Given the description of an element on the screen output the (x, y) to click on. 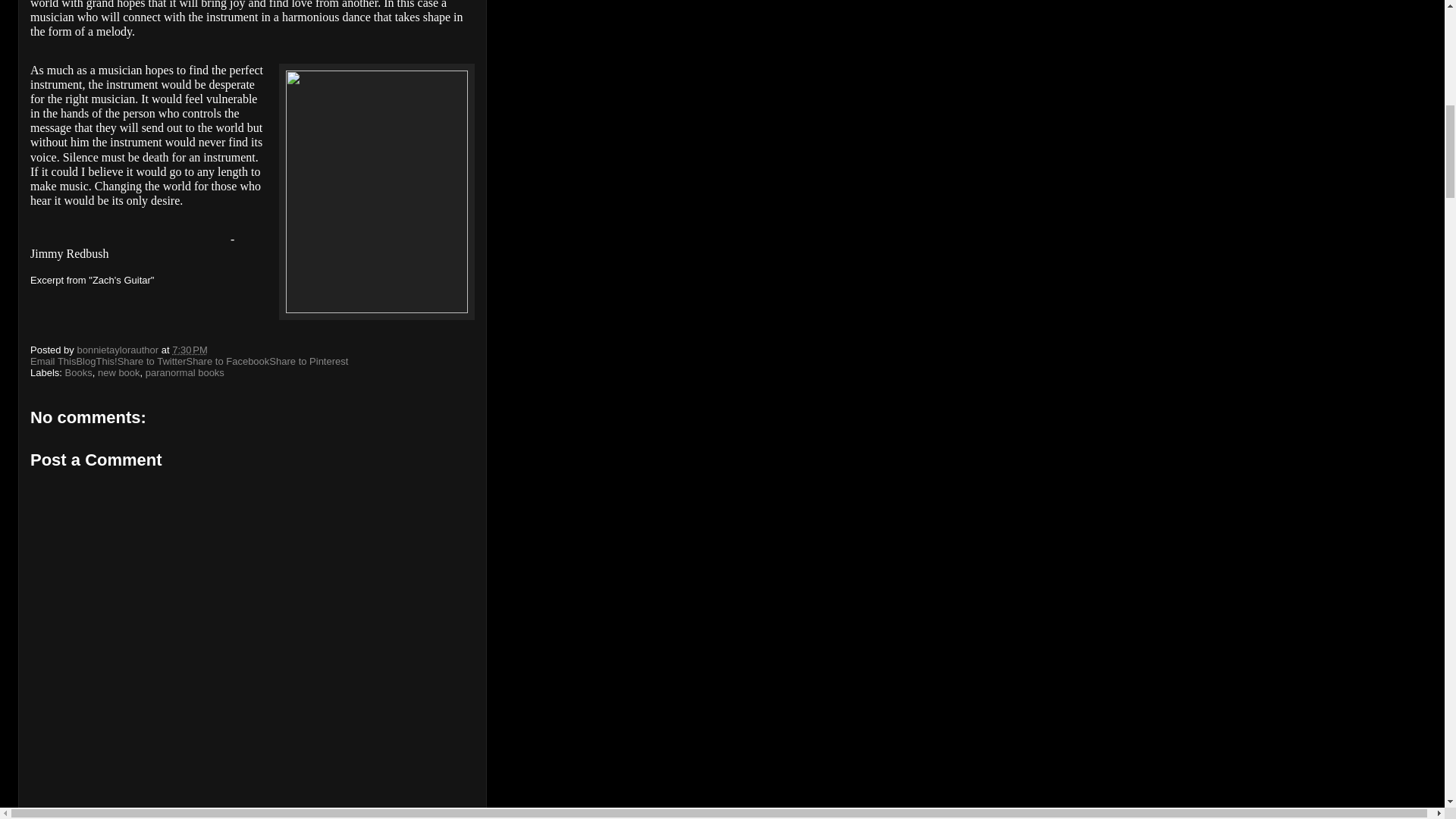
bonnietaylorauthor (118, 349)
Email This (52, 360)
permanent link (189, 349)
Share to Twitter (151, 360)
BlogThis! (95, 360)
Share to Pinterest (308, 360)
Books (79, 372)
paranormal books (184, 372)
Share to Pinterest (308, 360)
Share to Twitter (151, 360)
new book (118, 372)
Email This (52, 360)
Share to Facebook (227, 360)
author profile (118, 349)
